Given the description of an element on the screen output the (x, y) to click on. 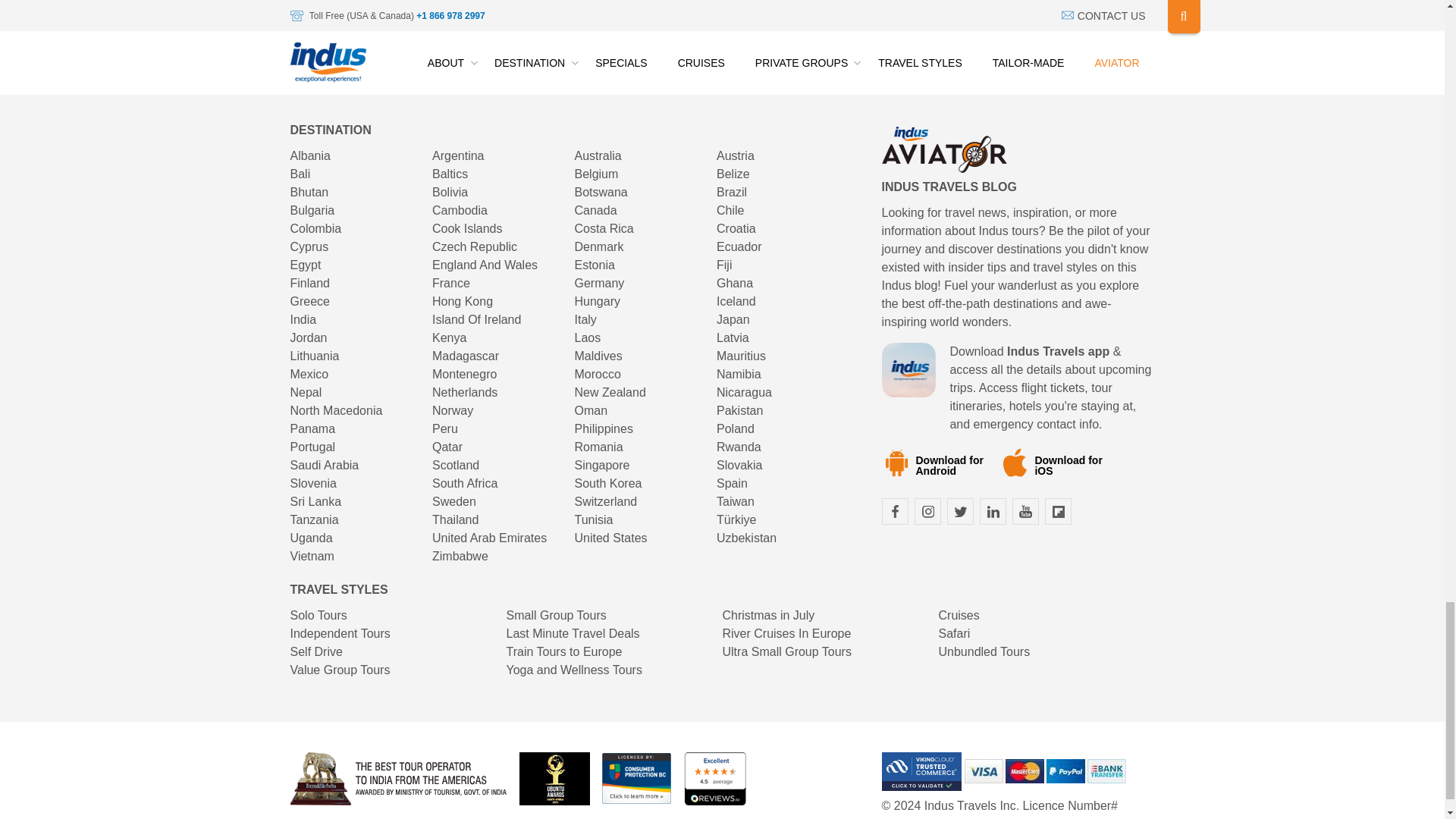
Subscribe Now (1071, 20)
